Given the description of an element on the screen output the (x, y) to click on. 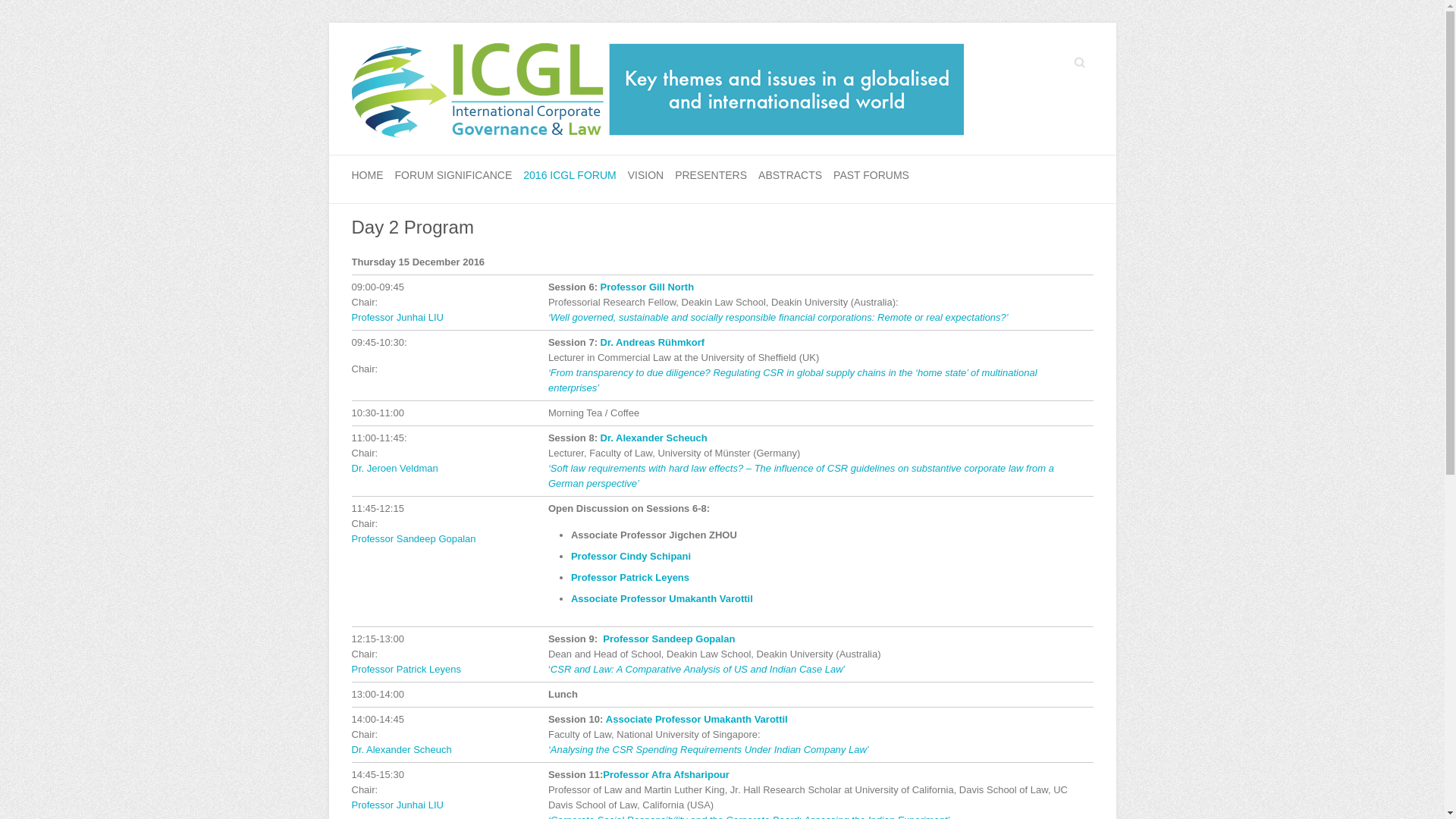
Associate Professor Umakanth Varottil Element type: text (662, 598)
PAST FORUMS Element type: text (871, 176)
Dr. Alexander Scheuch Element type: text (401, 749)
Professor Sandeep Gopalan Element type: text (668, 638)
Professor Junhai LIU Element type: text (397, 317)
2016 ICGL FORUM Element type: text (569, 176)
VISION Element type: text (645, 176)
Professor Patrick Leyens Element type: text (630, 577)
Dr. Alexander Scheuch Element type: text (653, 437)
Professor Patrick Leyens Element type: text (406, 668)
HOME Element type: text (367, 176)
PRESENTERS Element type: text (710, 176)
Associate Professor Umakanth Varottil Element type: text (696, 718)
FORUM SIGNIFICANCE Element type: text (452, 176)
Dr. Jeroen Veldman Element type: text (394, 467)
Professor Gill North Element type: text (647, 286)
Professor Afra Afsharipour Element type: text (665, 774)
Professor Junhai LIU Element type: text (397, 804)
Professor Sandeep Gopalan Element type: text (413, 538)
Professor Cindy Schipani Element type: text (630, 555)
ABSTRACTS Element type: text (790, 176)
